Given the description of an element on the screen output the (x, y) to click on. 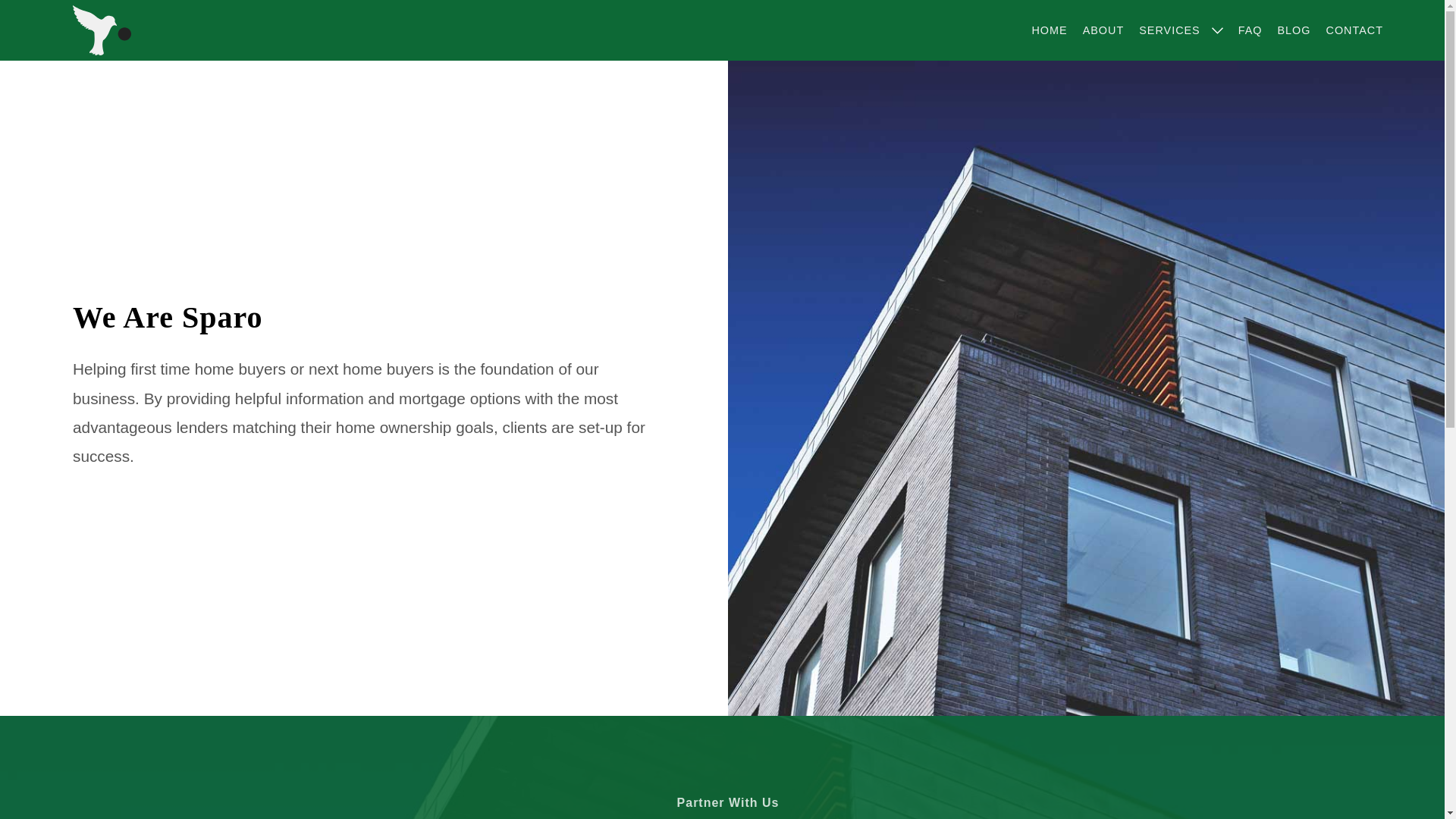
BLOG (1294, 30)
ABOUT (1103, 30)
SERVICES (1168, 30)
CONTACT (1354, 30)
HOME (1048, 30)
